Given the description of an element on the screen output the (x, y) to click on. 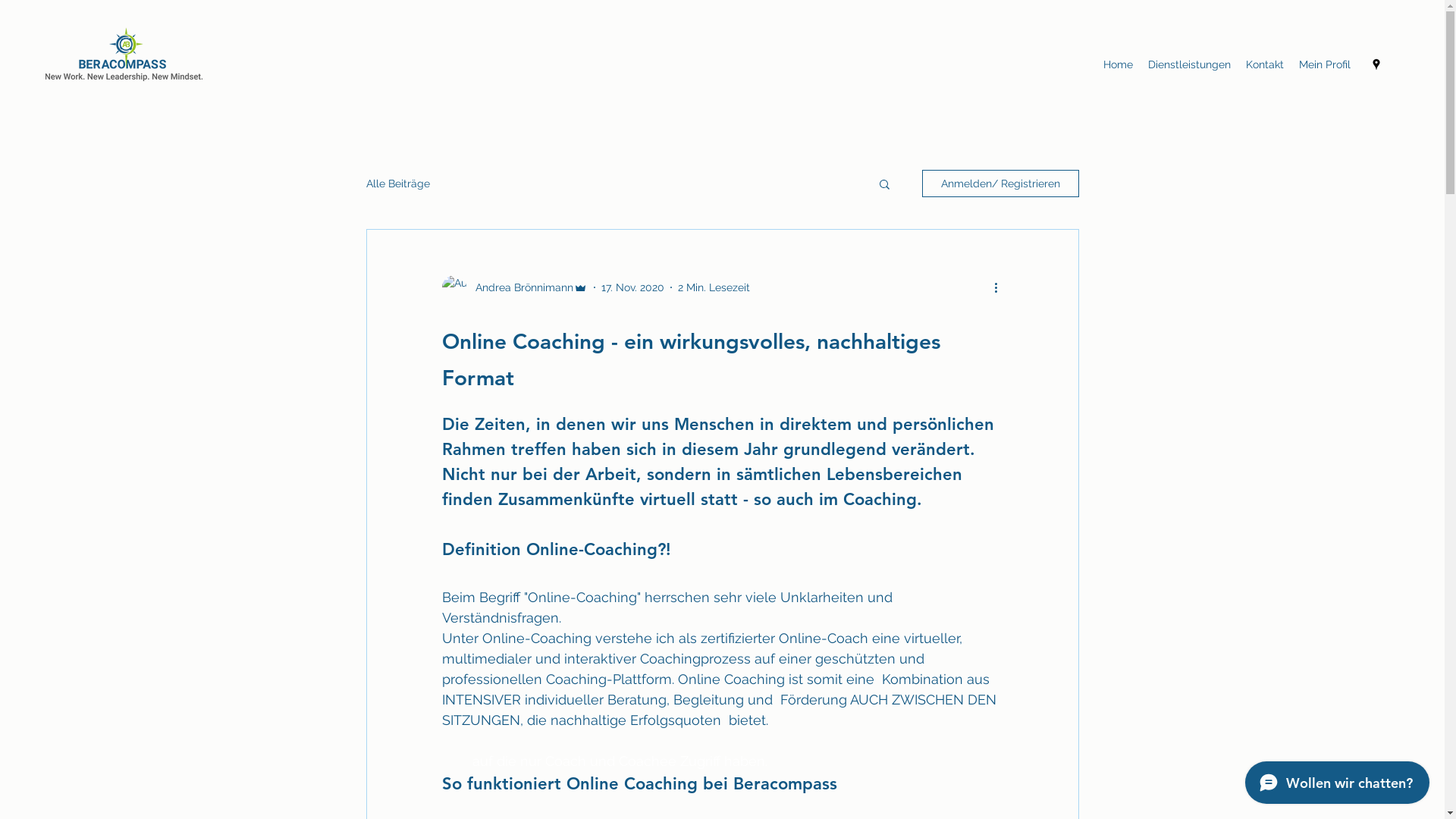
Kontakt Element type: text (1264, 64)
Dienstleistungen Element type: text (1189, 64)
Mein Profil Element type: text (1324, 64)
Anmelden/ Registrieren Element type: text (1000, 183)
Home Element type: text (1117, 64)
